Given the description of an element on the screen output the (x, y) to click on. 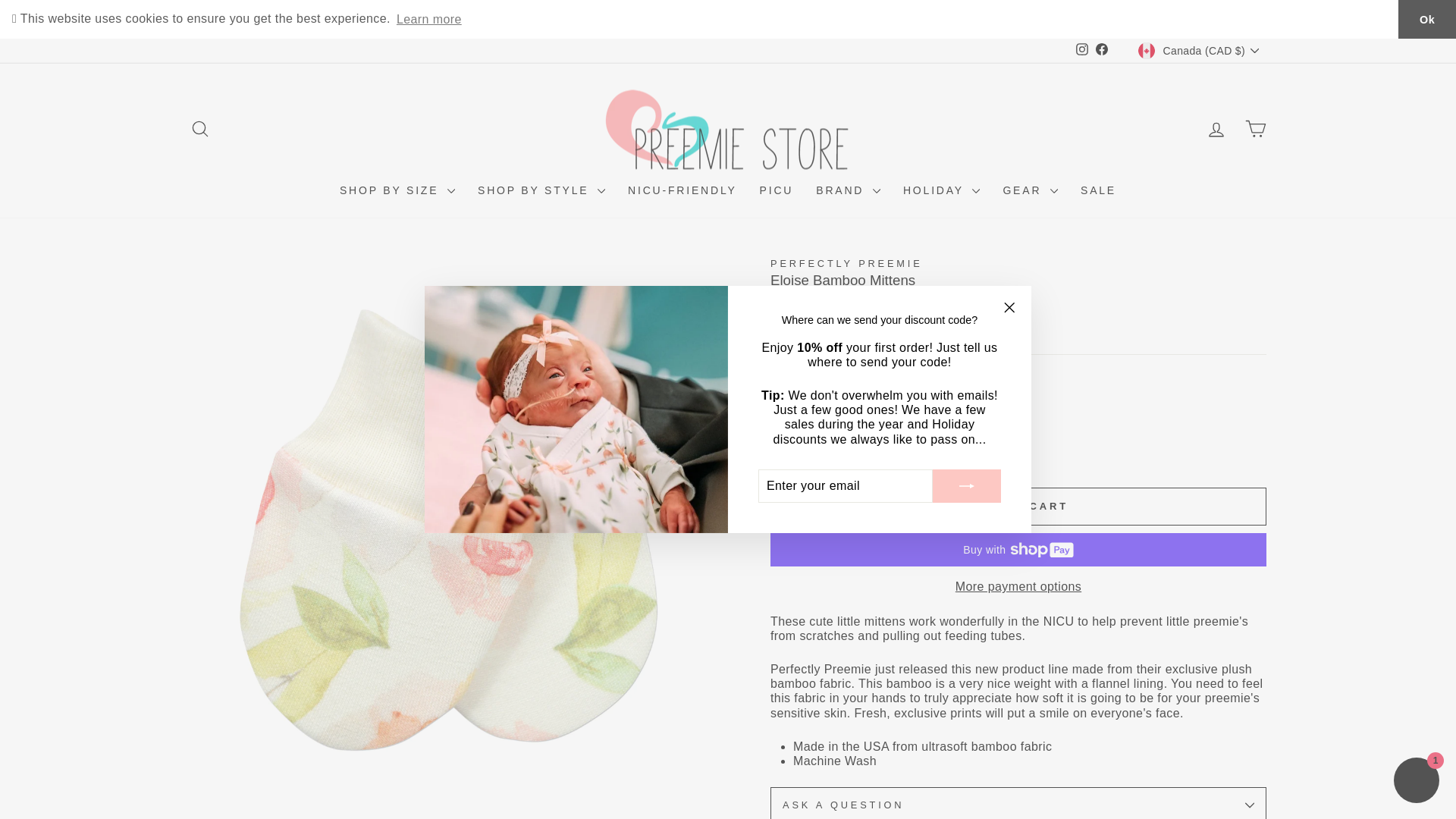
Preemie Store on Facebook (1102, 50)
Shopify online store chat (1416, 781)
instagram (1081, 49)
Learn more (429, 18)
Preemie Store on Instagram (1081, 50)
ACCOUNT (1216, 129)
ICON-SEARCH (200, 128)
icon-X (1009, 307)
